Given the description of an element on the screen output the (x, y) to click on. 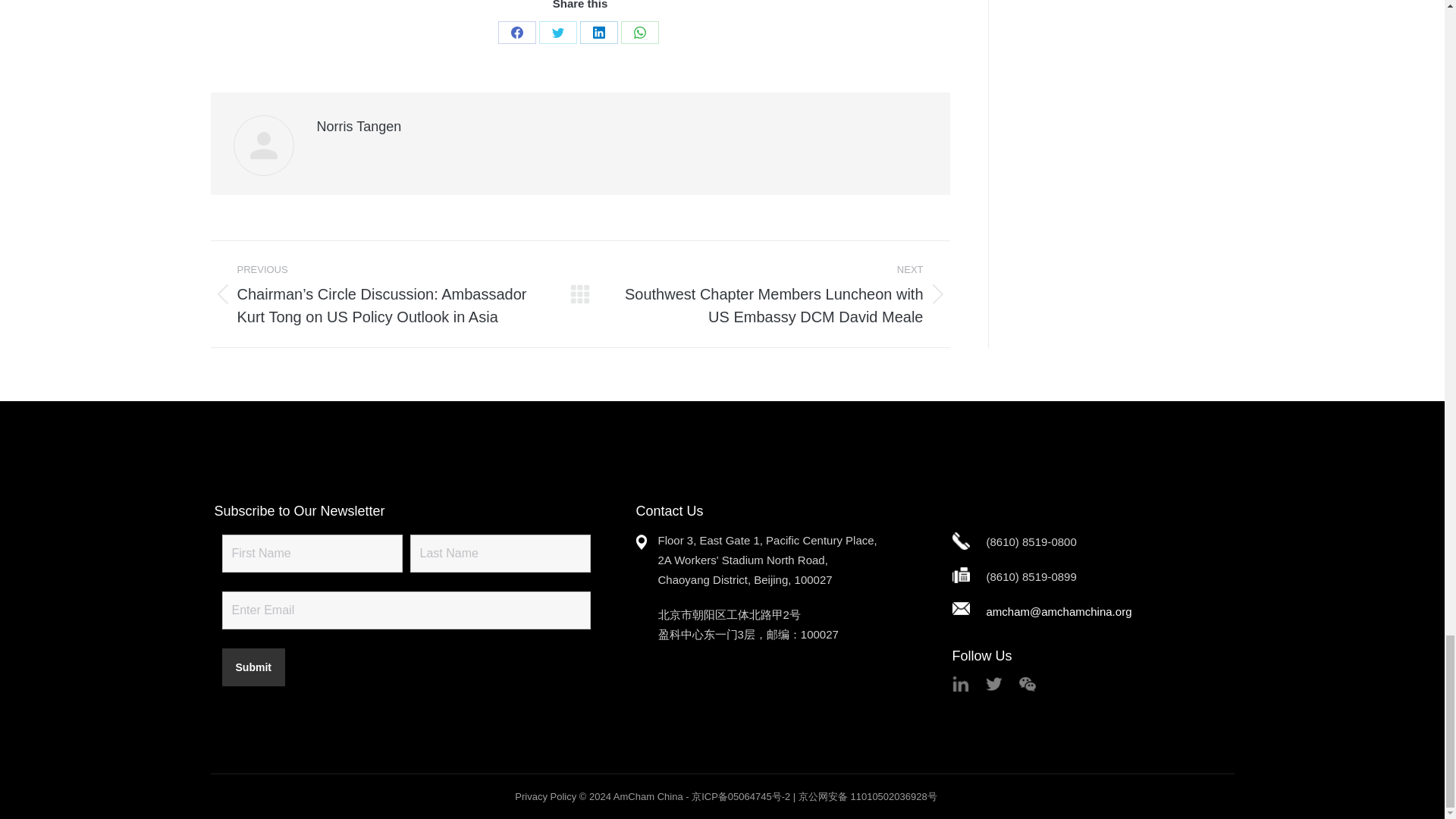
LinkedIn (598, 32)
Submit (252, 667)
Facebook (516, 32)
Twitter (557, 32)
WhatsApp (640, 32)
